Given the description of an element on the screen output the (x, y) to click on. 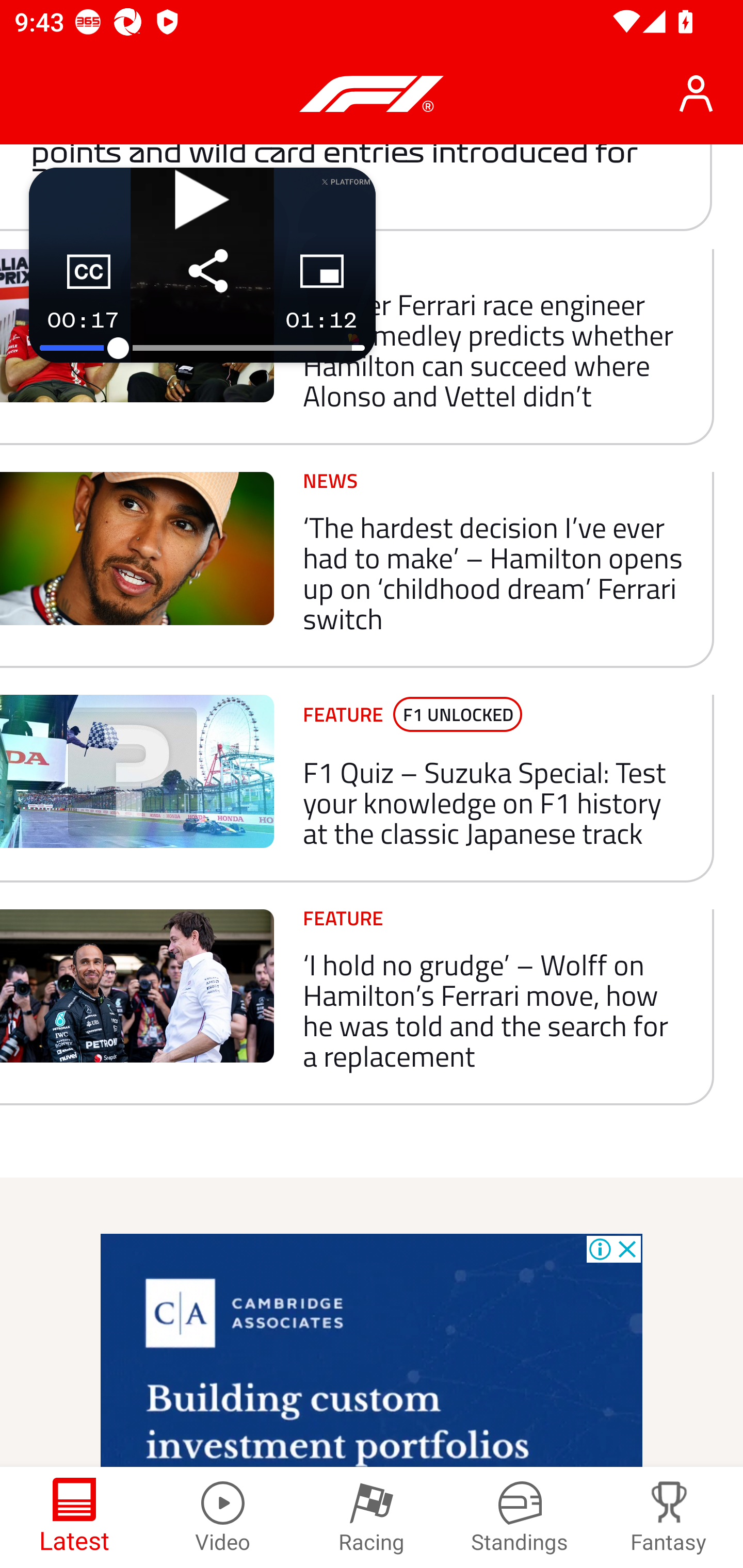
Video (222, 1517)
Racing (371, 1517)
Standings (519, 1517)
Fantasy (668, 1517)
